Given the description of an element on the screen output the (x, y) to click on. 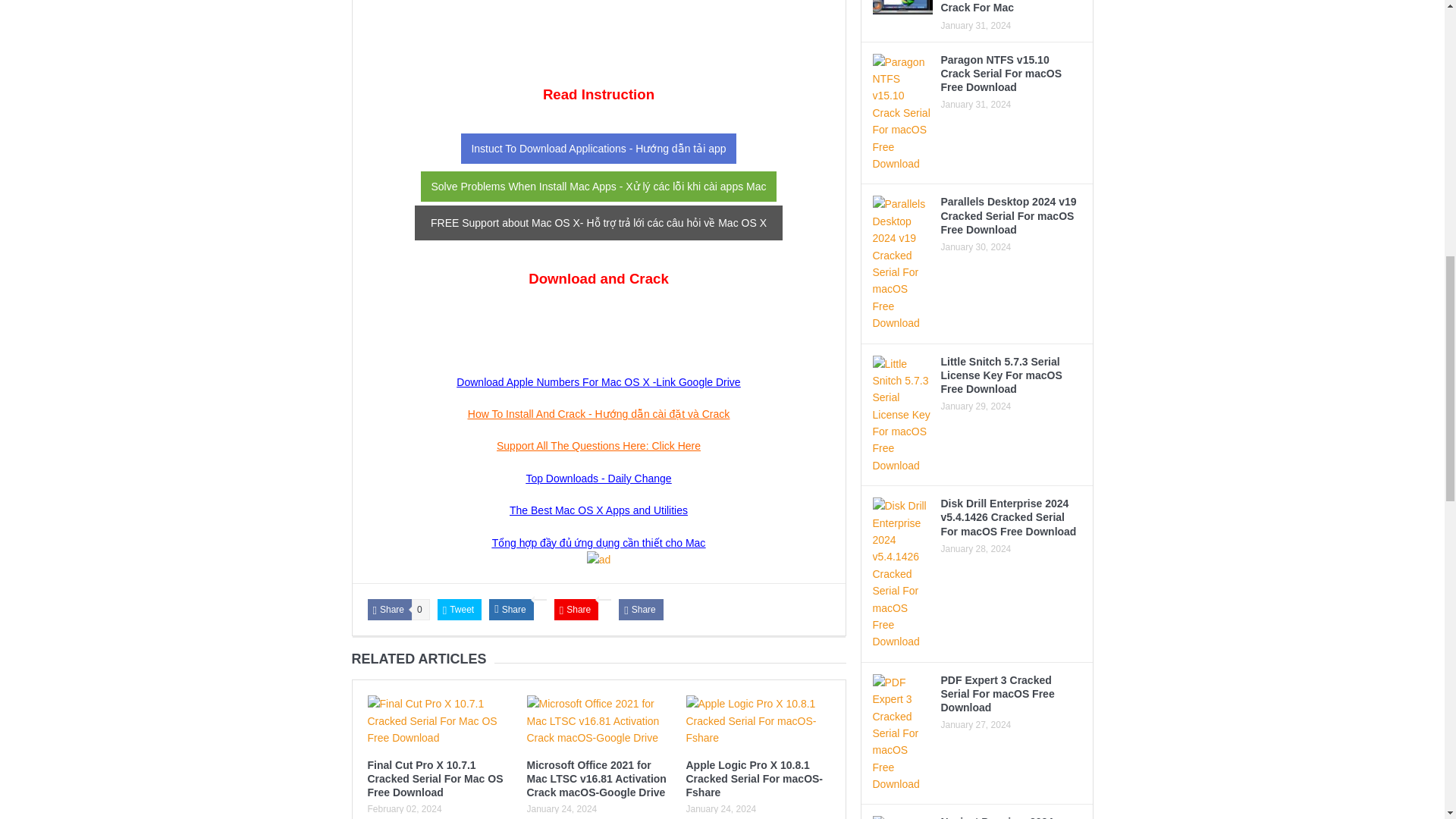
Instruction How To Download Apps  (598, 148)
Fix all problem for Mac OSX Yosemite (598, 186)
